Given the description of an element on the screen output the (x, y) to click on. 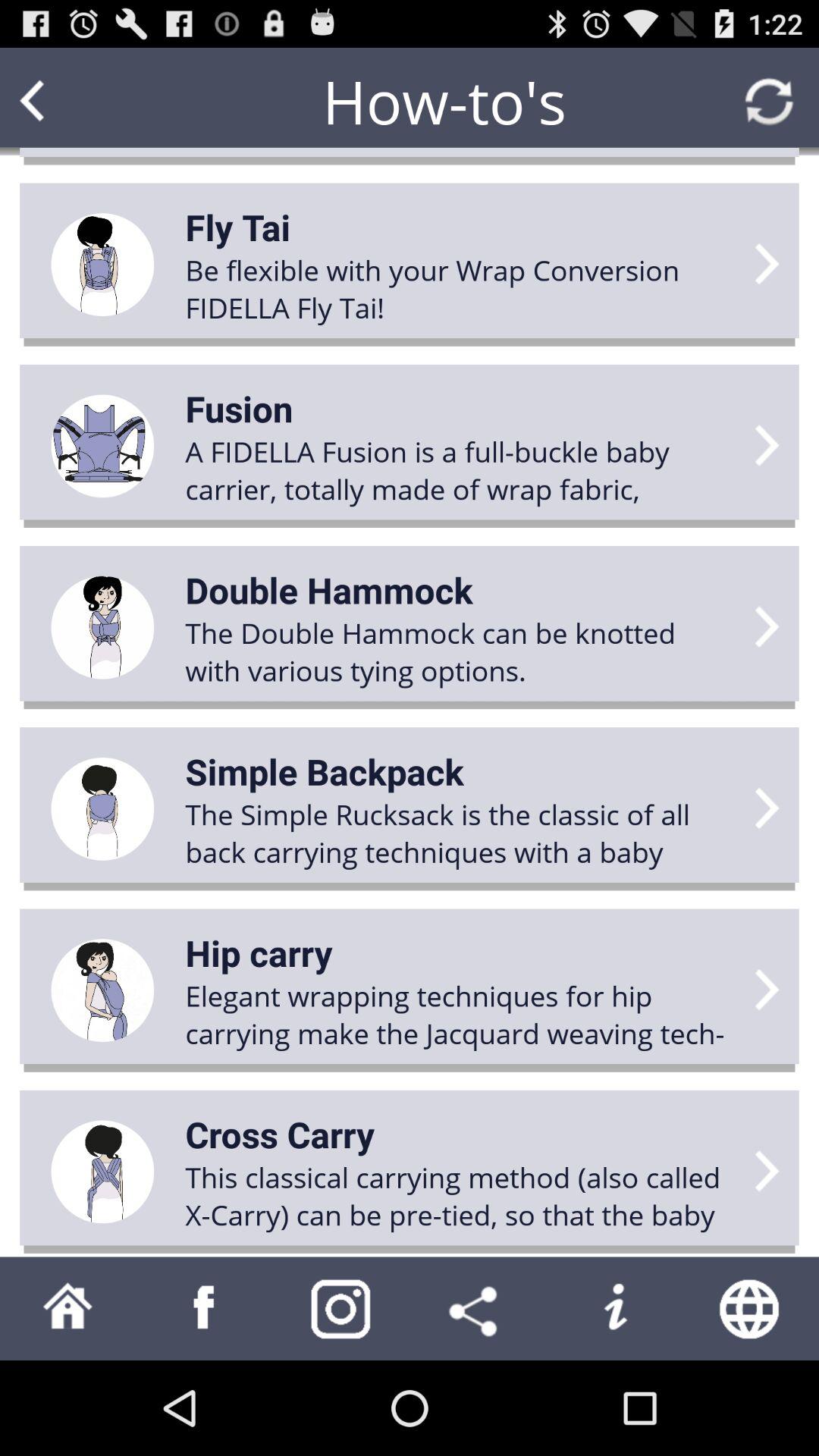
launch app to the left of the how-to's item (61, 101)
